Given the description of an element on the screen output the (x, y) to click on. 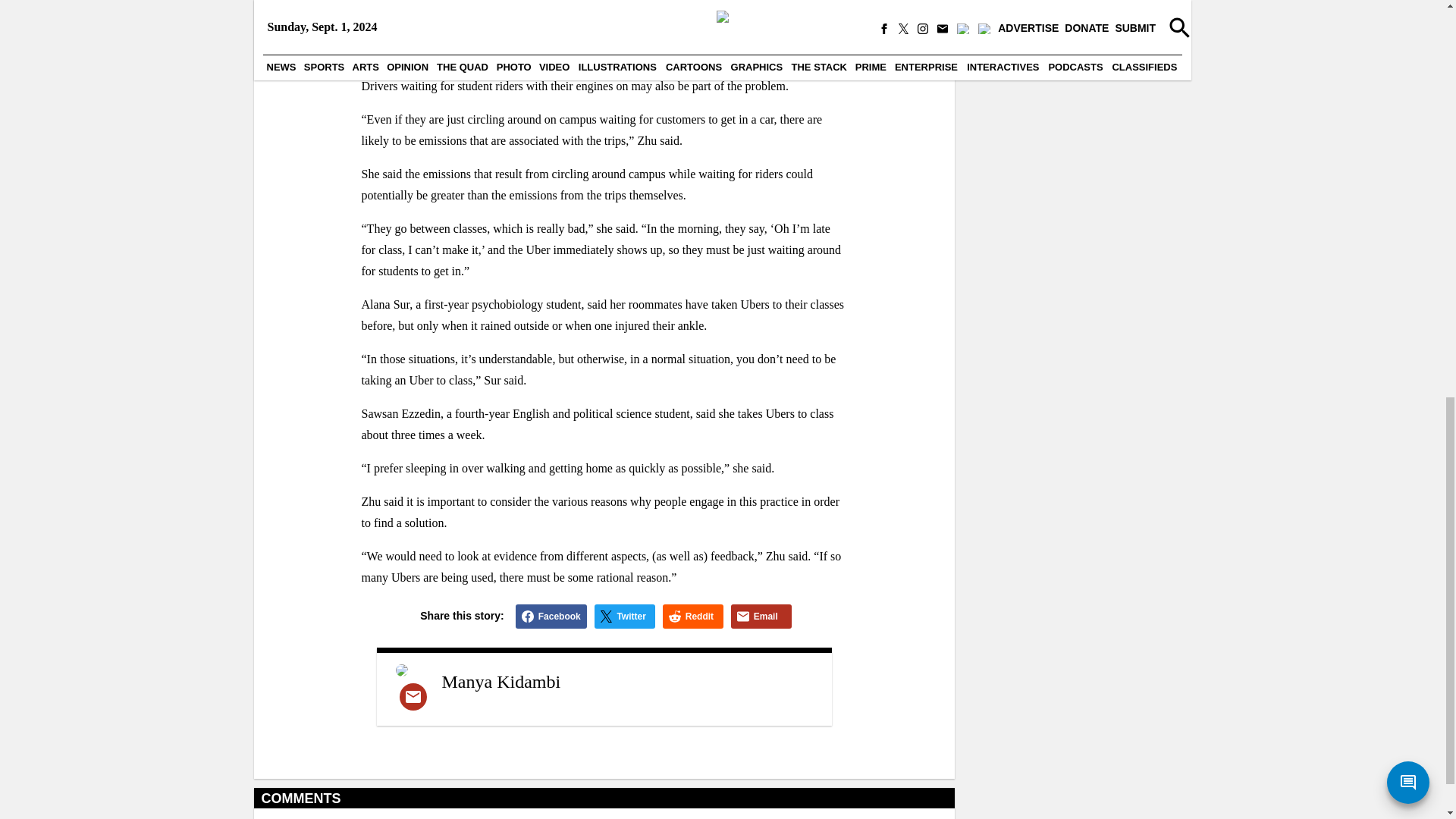
Email (761, 616)
Reddit (692, 616)
Twitter (624, 616)
Facebook (550, 616)
Manya Kidambi (500, 681)
